Given the description of an element on the screen output the (x, y) to click on. 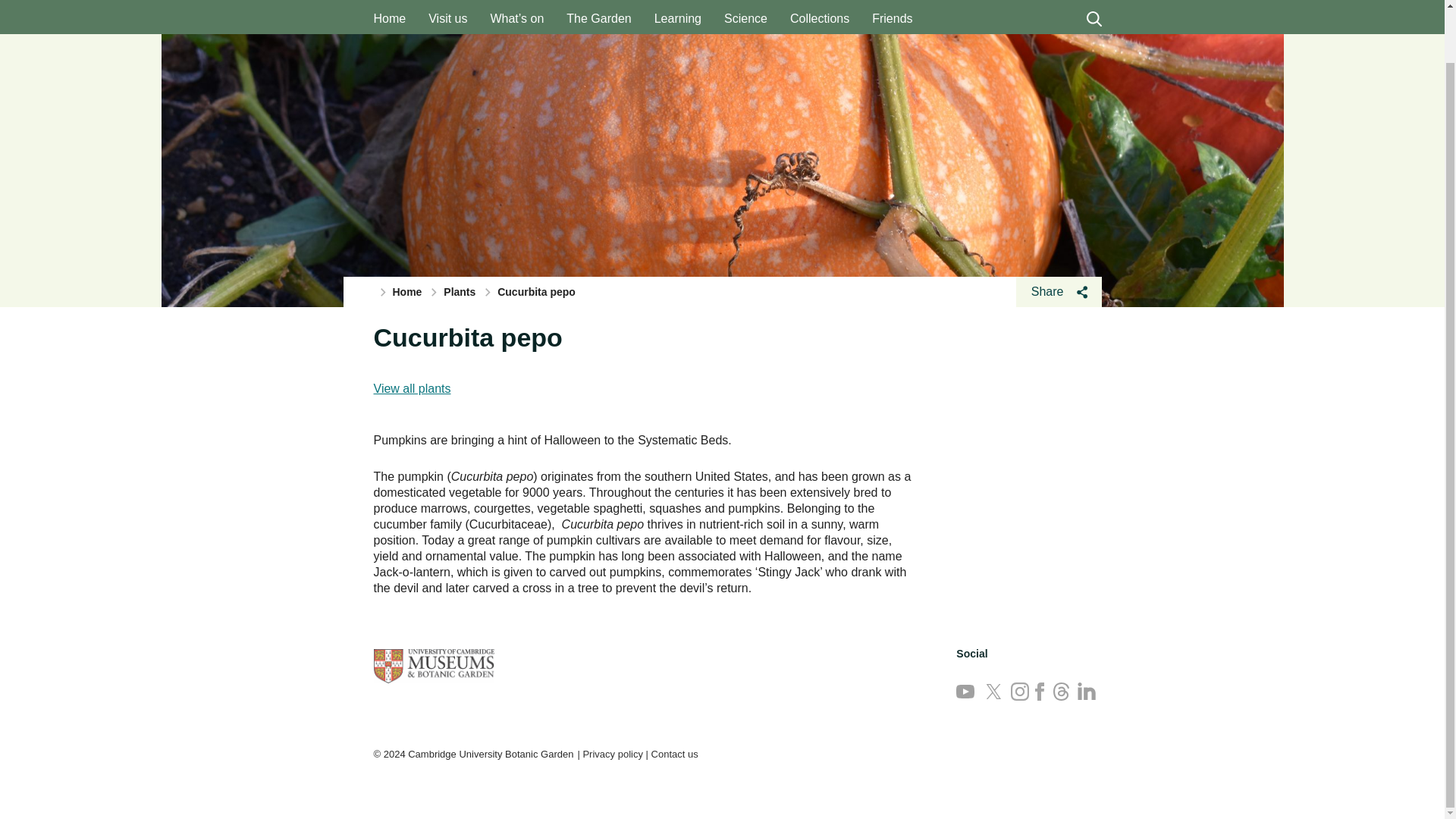
Permanent link: Cucurbita pepo (467, 337)
